Given the description of an element on the screen output the (x, y) to click on. 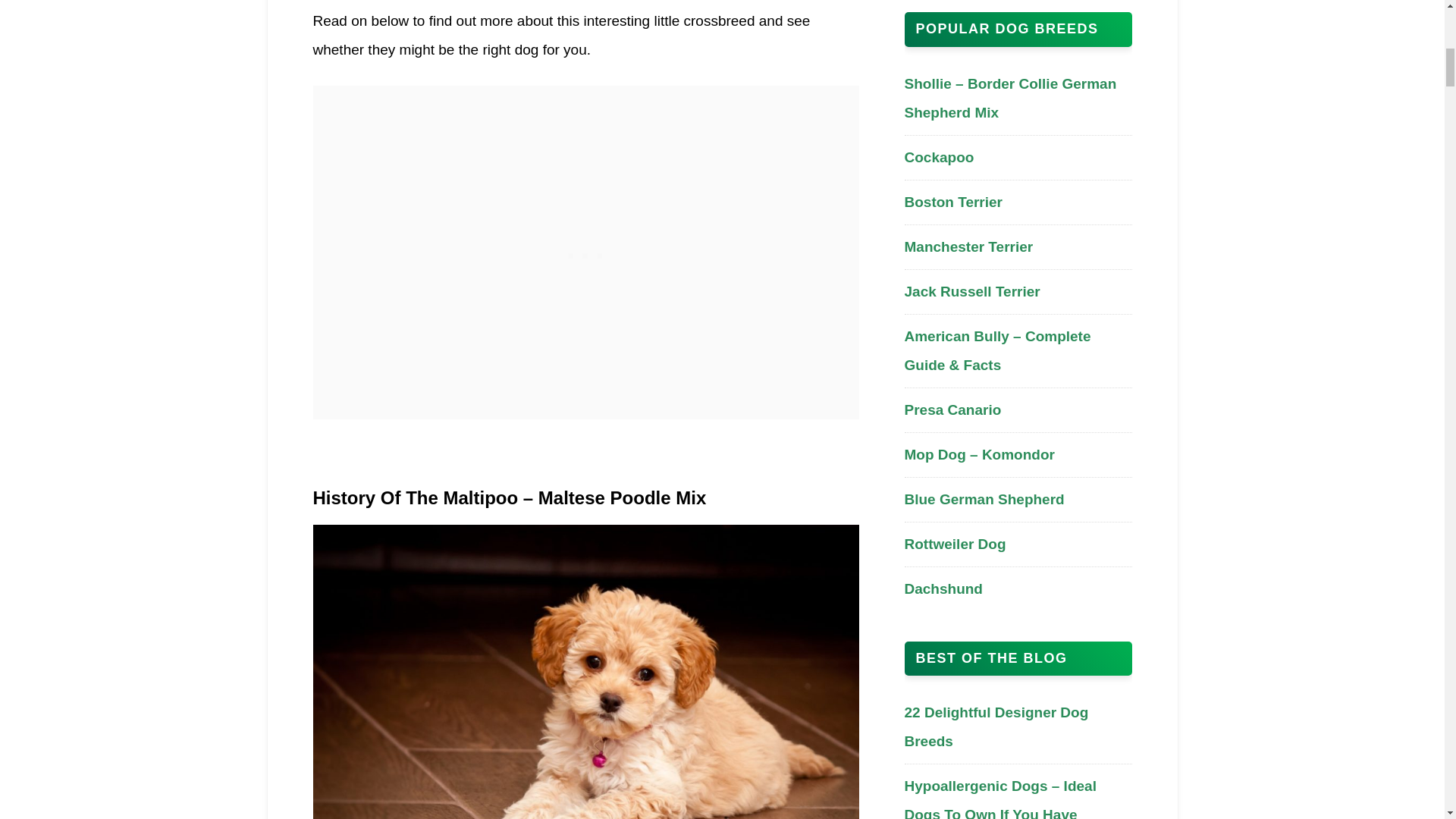
Cockapoo (939, 157)
